Given the description of an element on the screen output the (x, y) to click on. 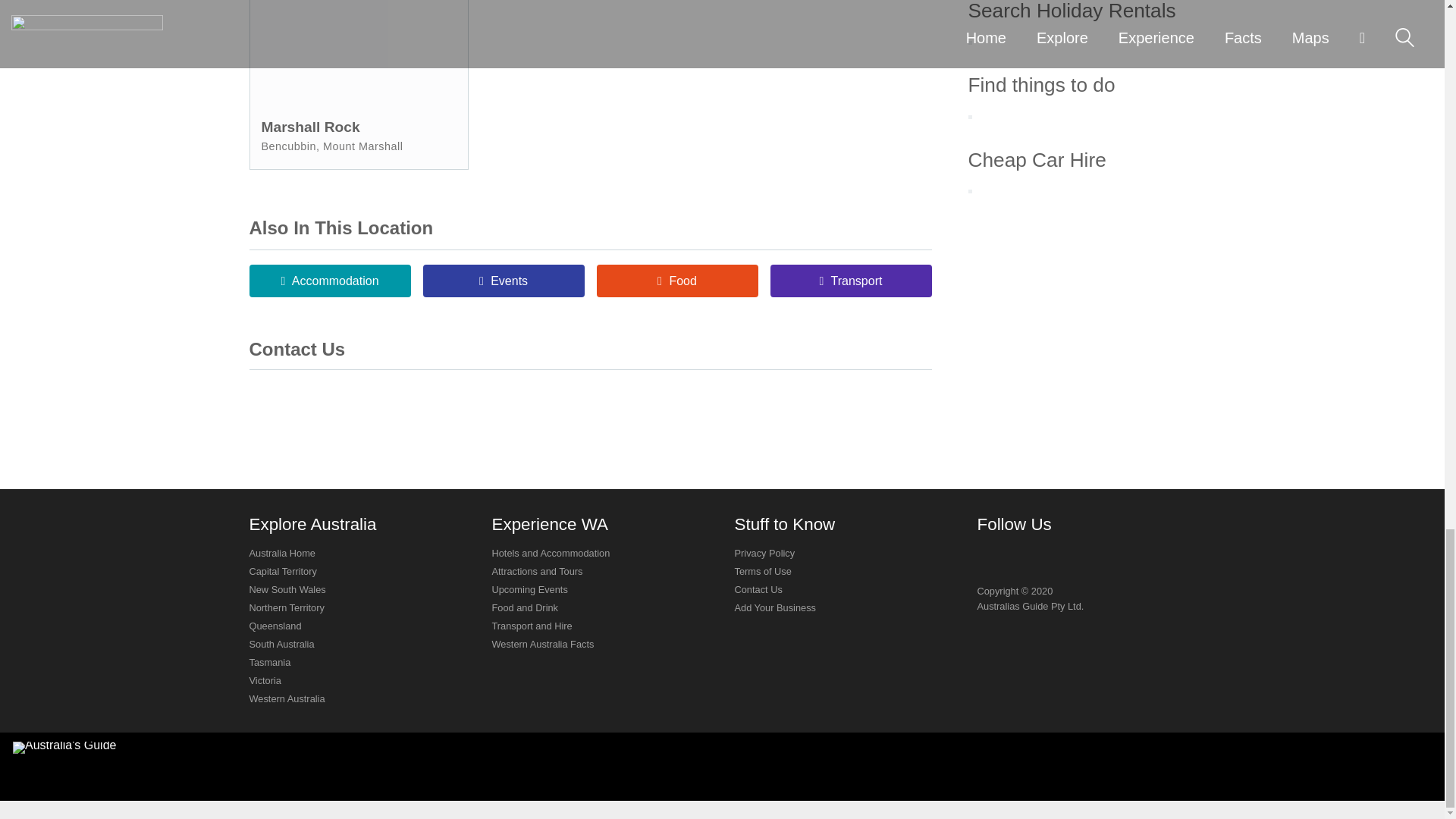
Food (676, 280)
Events (504, 280)
Accommodation (329, 280)
Transport (850, 280)
